Given the description of an element on the screen output the (x, y) to click on. 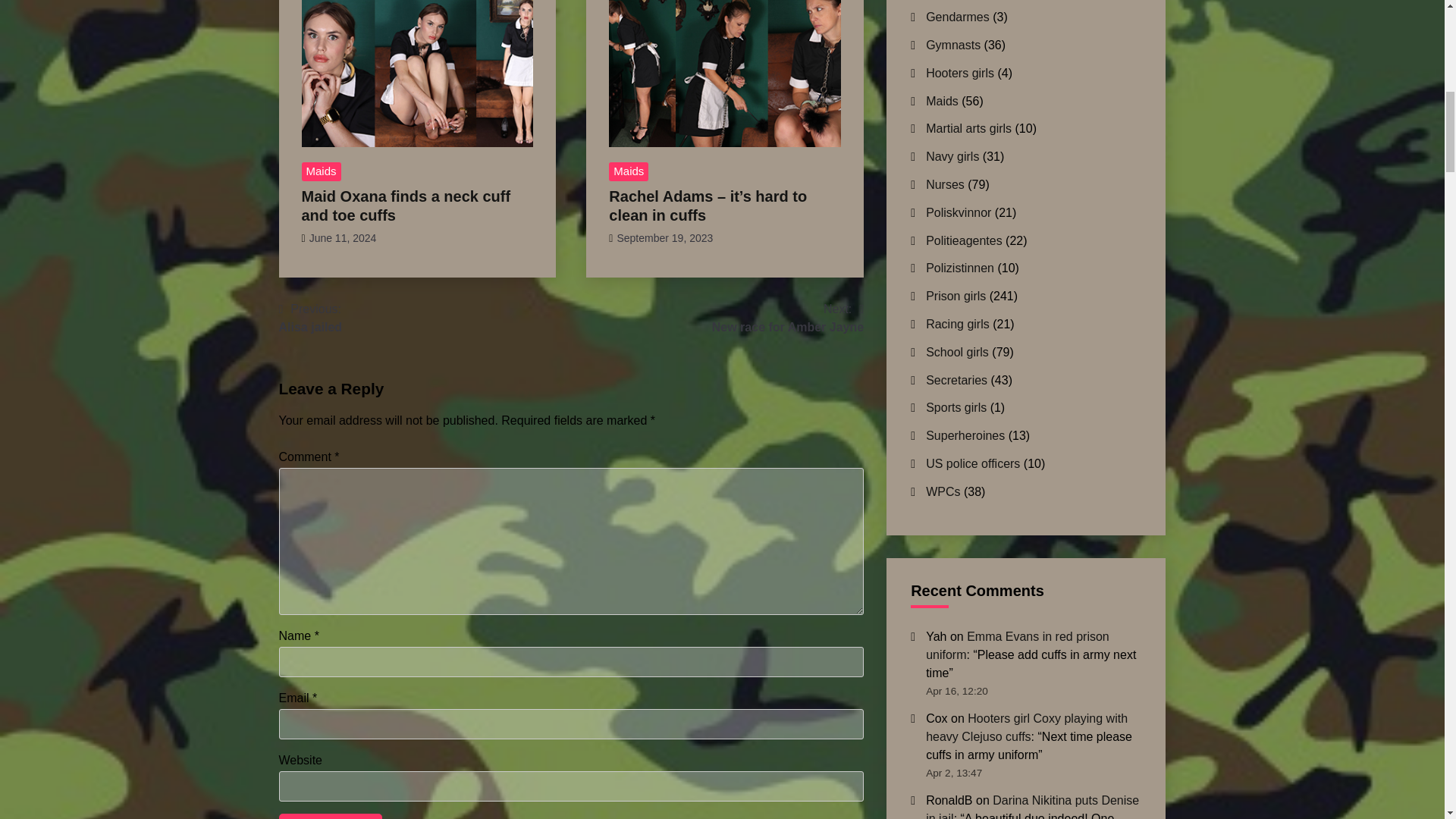
Maids (787, 318)
Maids (320, 171)
Post Comment (627, 171)
June 11, 2024 (330, 816)
September 19, 2023 (342, 237)
Maid Oxana finds a neck cuff and toe cuffs (664, 237)
